Given the description of an element on the screen output the (x, y) to click on. 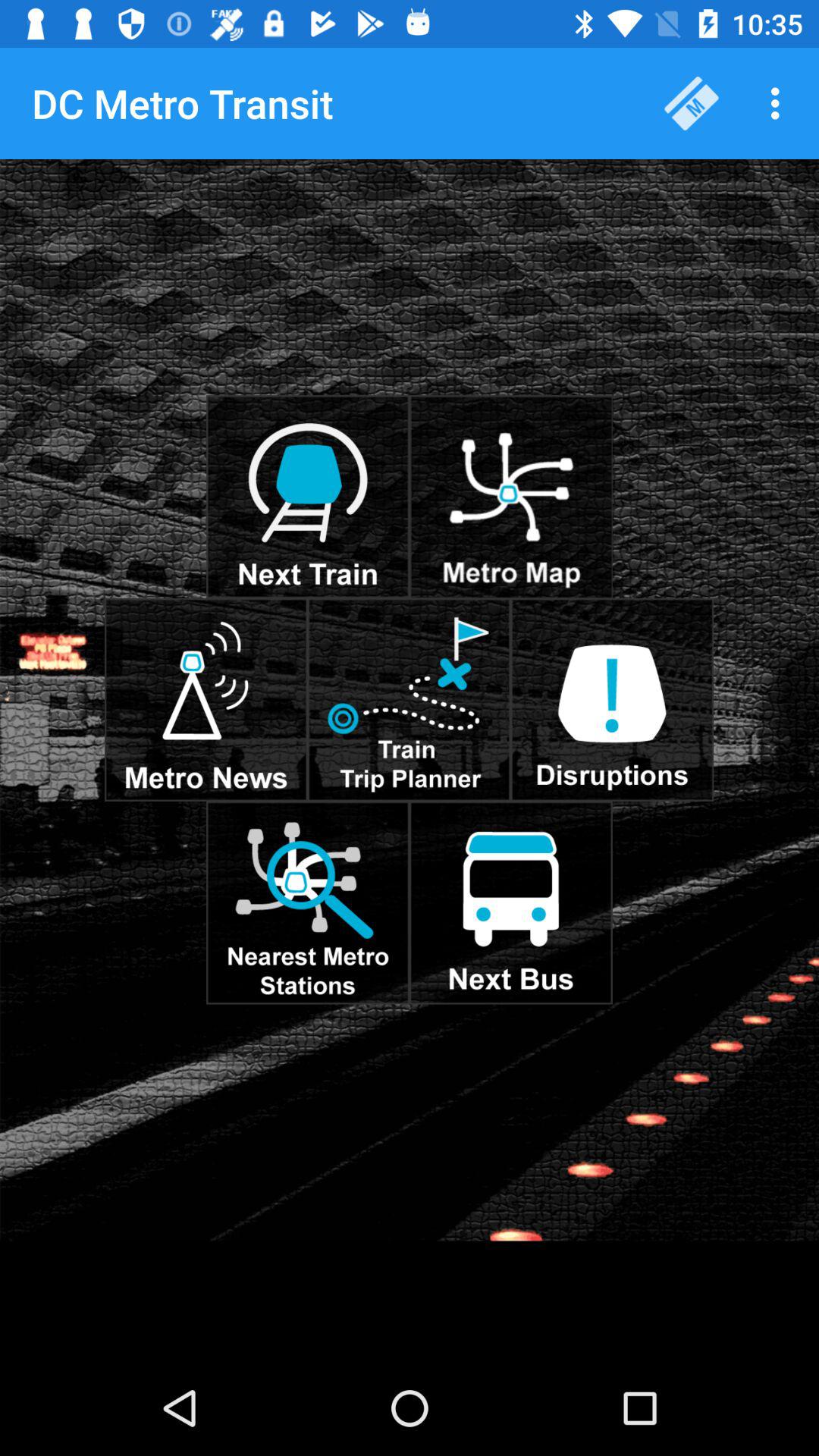
open next bus (510, 902)
